Given the description of an element on the screen output the (x, y) to click on. 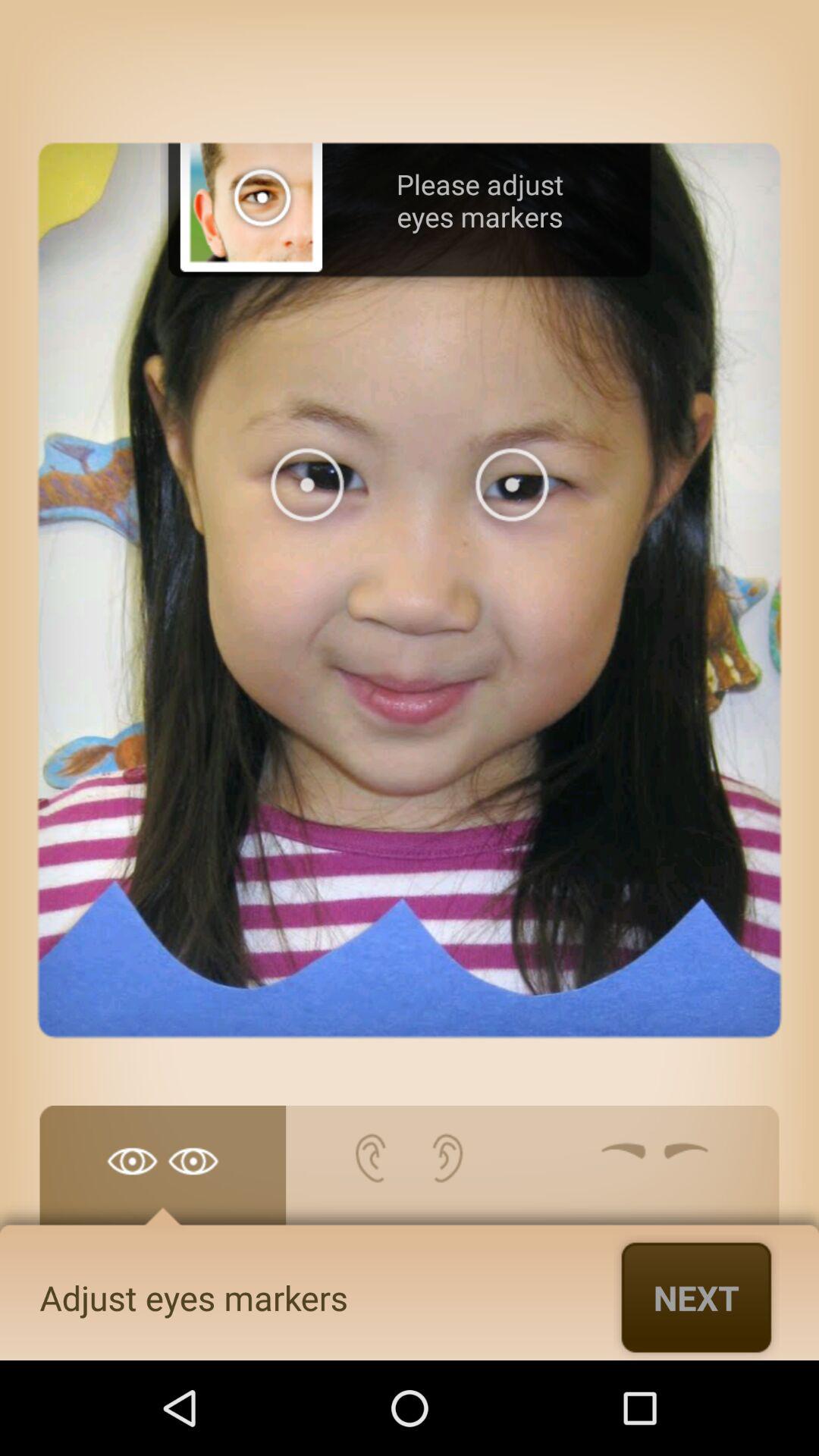
adjust ear options (409, 1173)
